Given the description of an element on the screen output the (x, y) to click on. 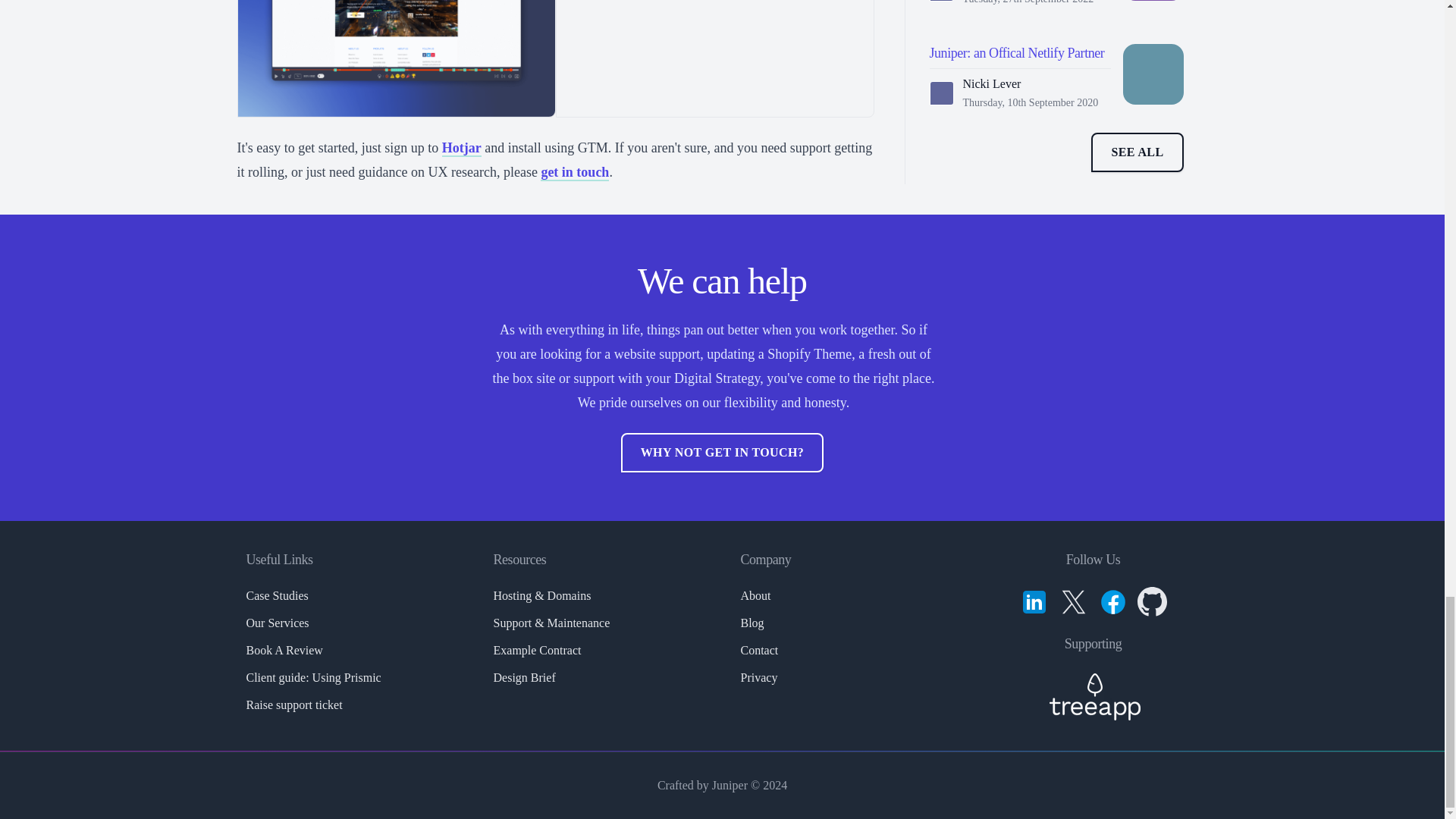
Example Contract (536, 649)
Design Brief (523, 676)
Hotjar (461, 148)
Our Services (277, 622)
Book A Review (283, 649)
Blog (750, 622)
Case Studies (276, 594)
Privacy (758, 676)
Raise support ticket (294, 704)
WHY NOT GET IN TOUCH? (722, 452)
Client guide: Using Prismic (313, 676)
About (754, 594)
get in touch (574, 172)
Contact (758, 649)
